Given the description of an element on the screen output the (x, y) to click on. 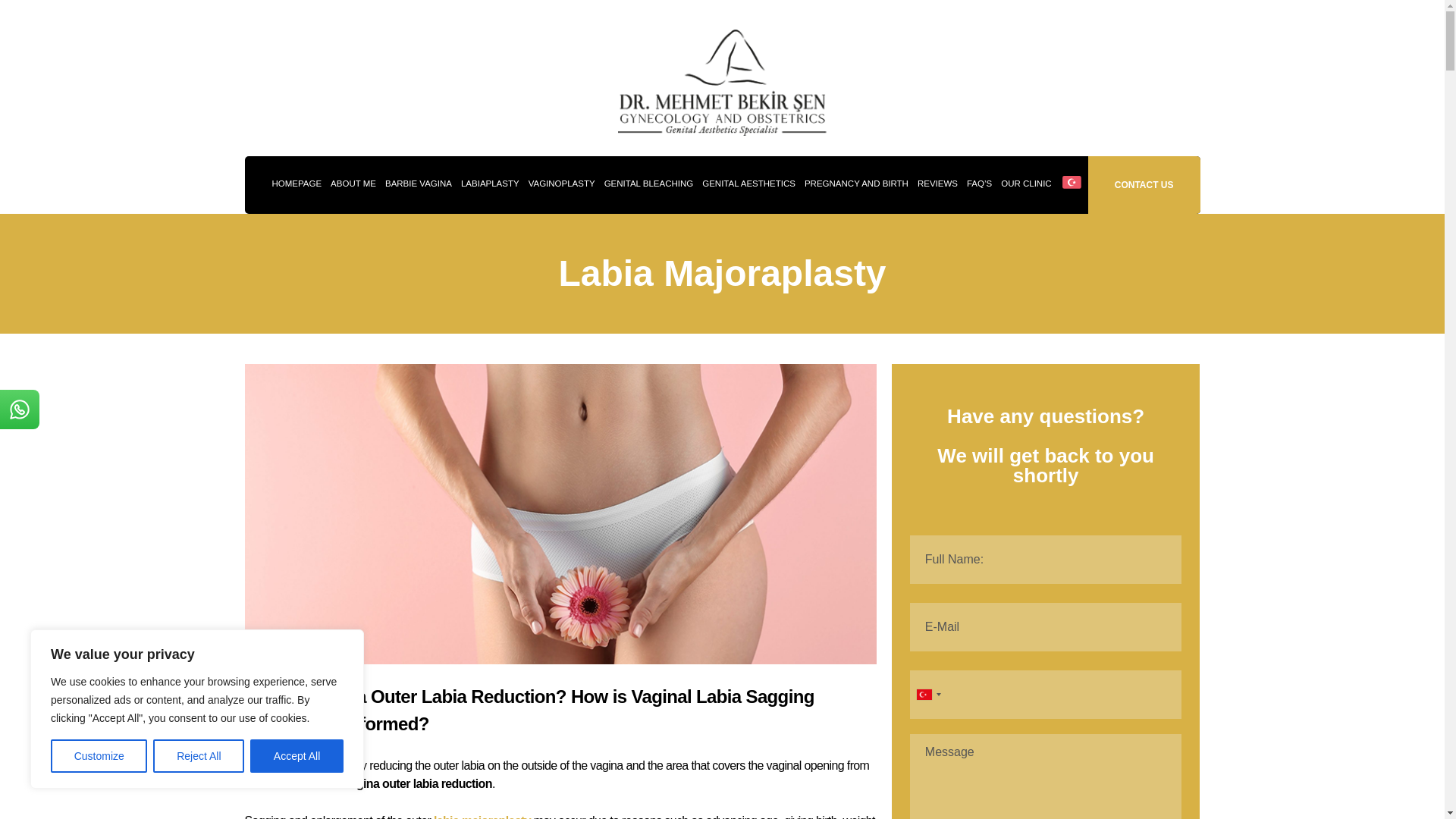
Accept All (296, 756)
Customize (98, 756)
Reject All (198, 756)
